Given the description of an element on the screen output the (x, y) to click on. 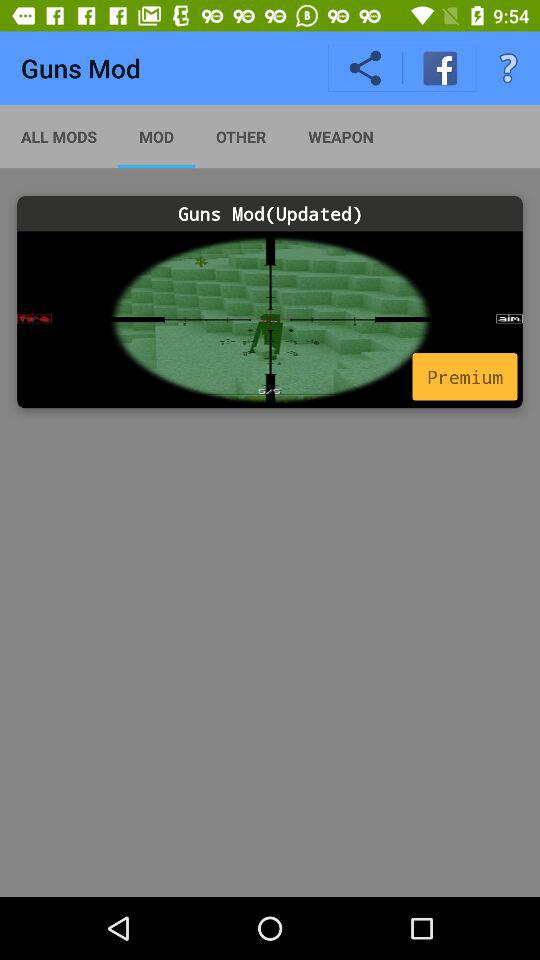
select mod (269, 319)
